Given the description of an element on the screen output the (x, y) to click on. 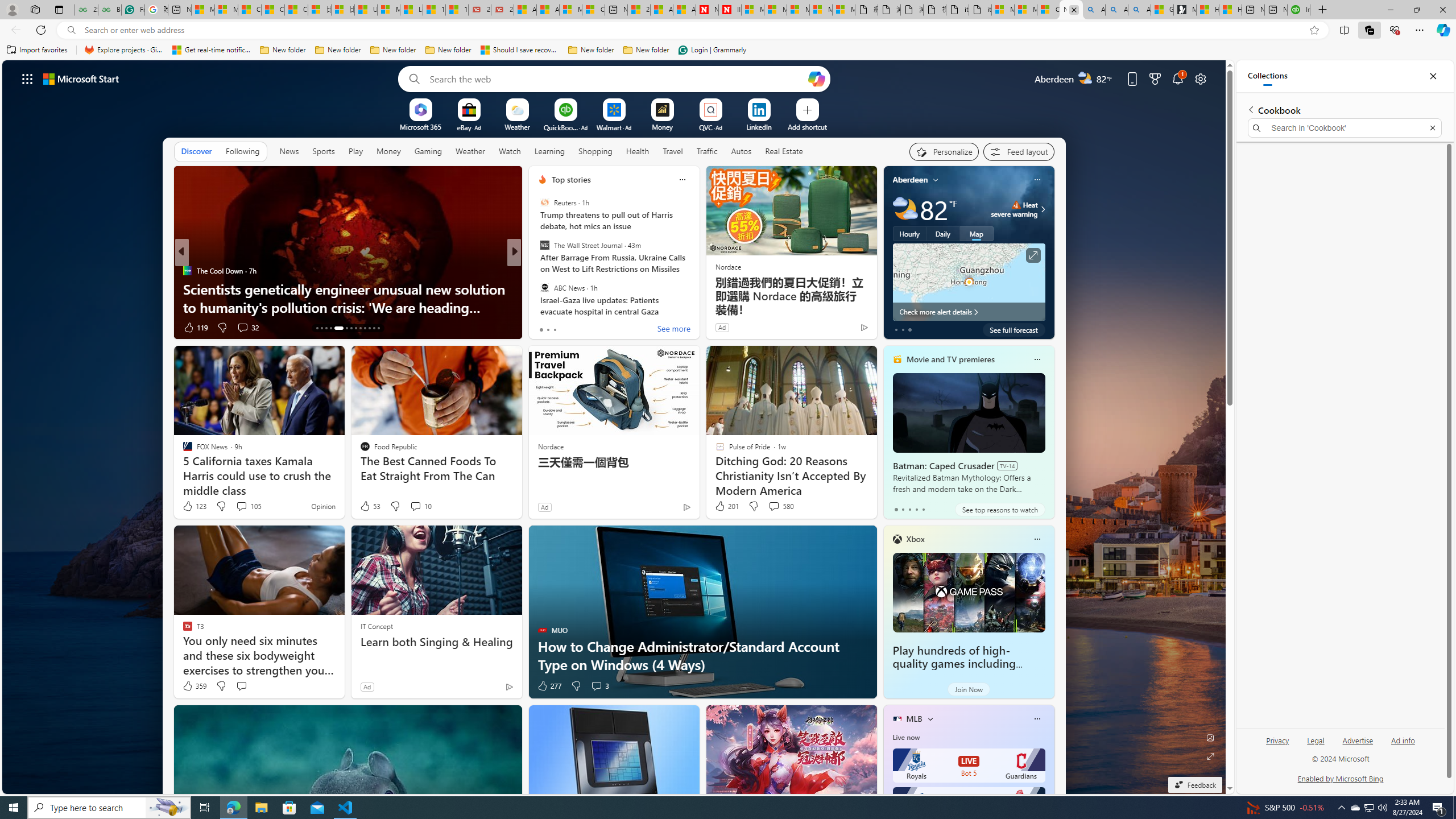
View comments 580 Comment (779, 505)
AutomationID: tab-15 (326, 328)
53 Like (368, 505)
20 Ways to Boost Your Protein Intake at Every Meal (639, 9)
